Given the description of an element on the screen output the (x, y) to click on. 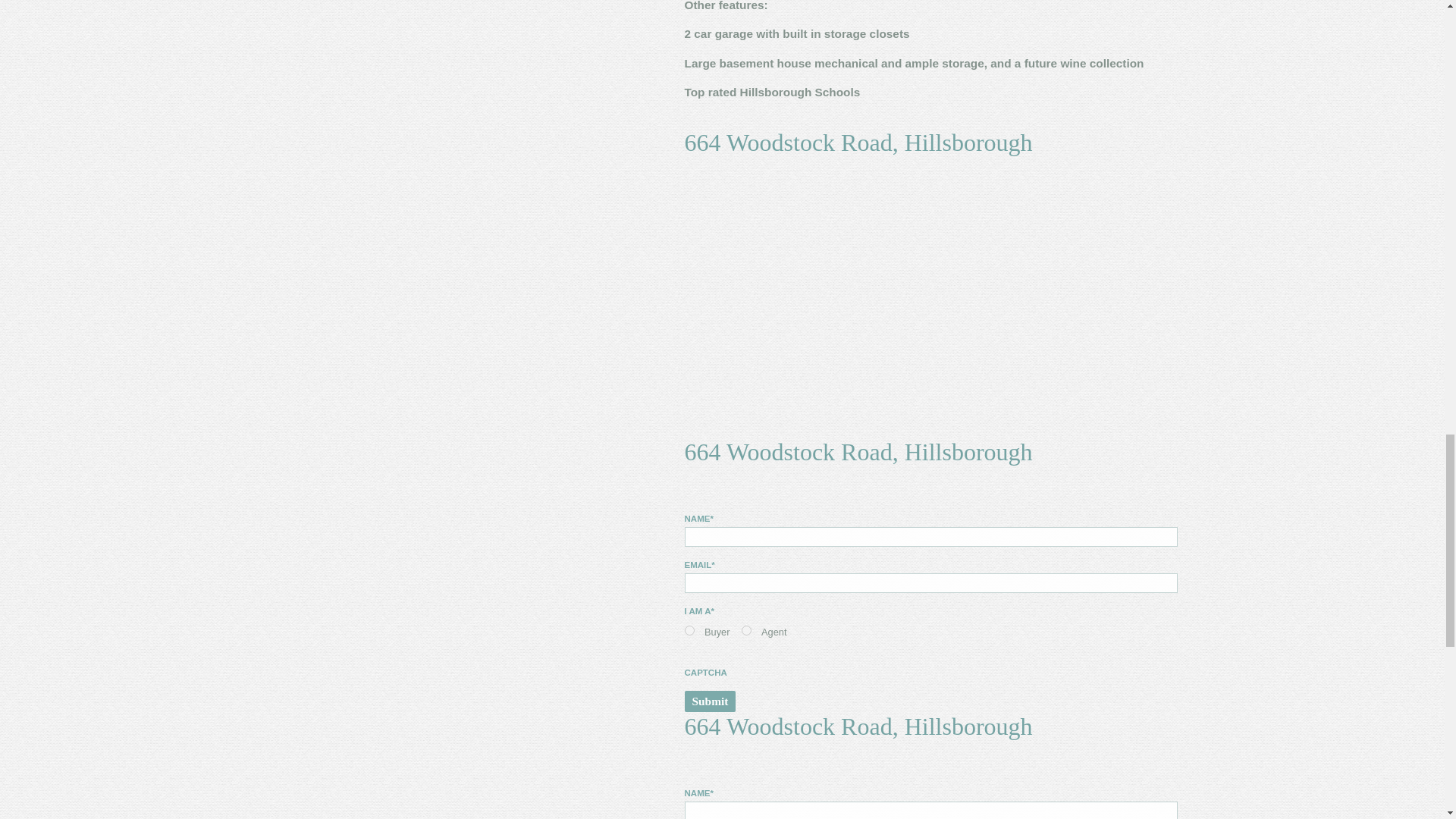
Agent (746, 630)
Submit (709, 701)
Buyer (689, 630)
Submit (709, 701)
